Given the description of an element on the screen output the (x, y) to click on. 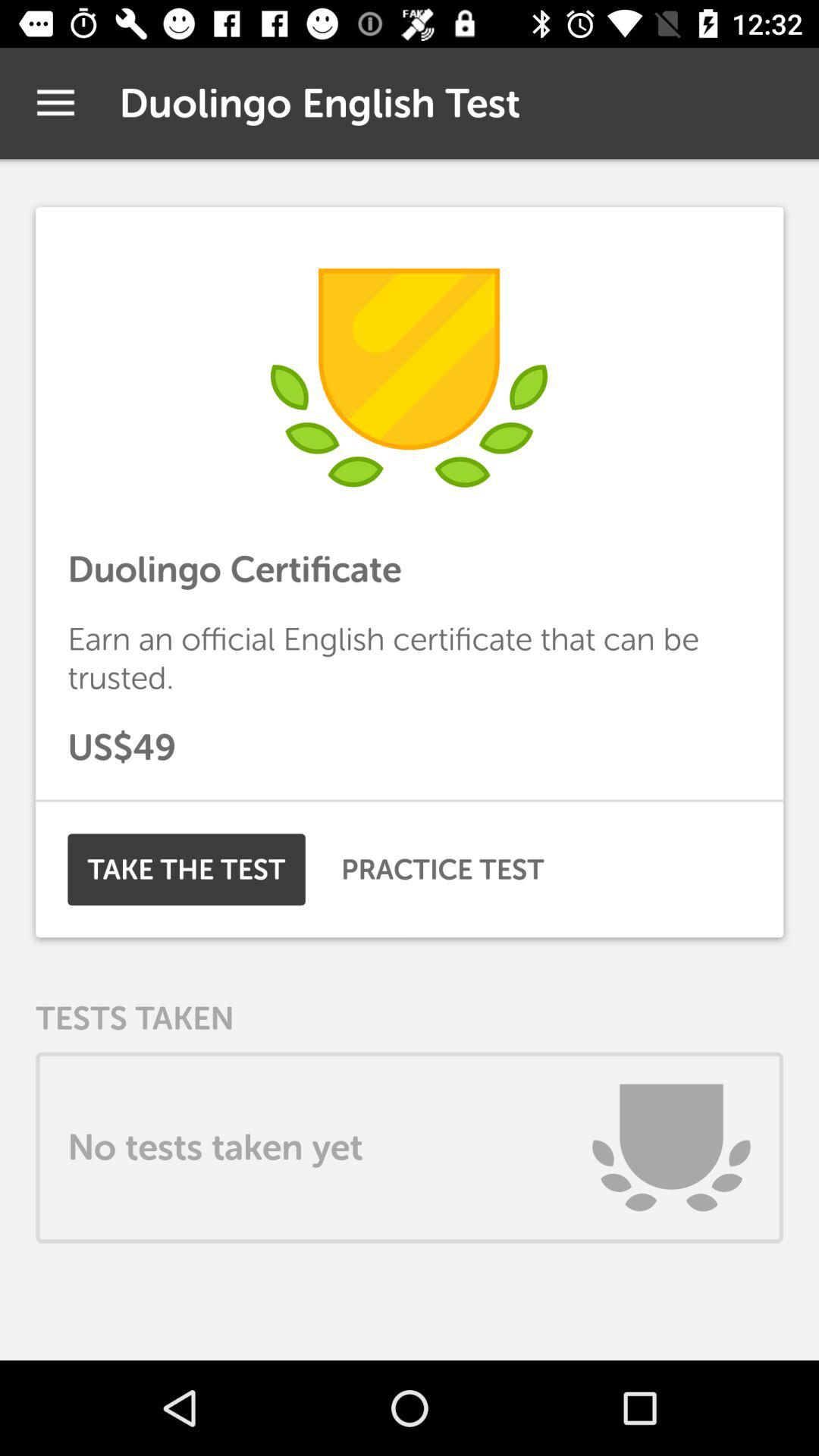
open icon above the take the test item (409, 800)
